Given the description of an element on the screen output the (x, y) to click on. 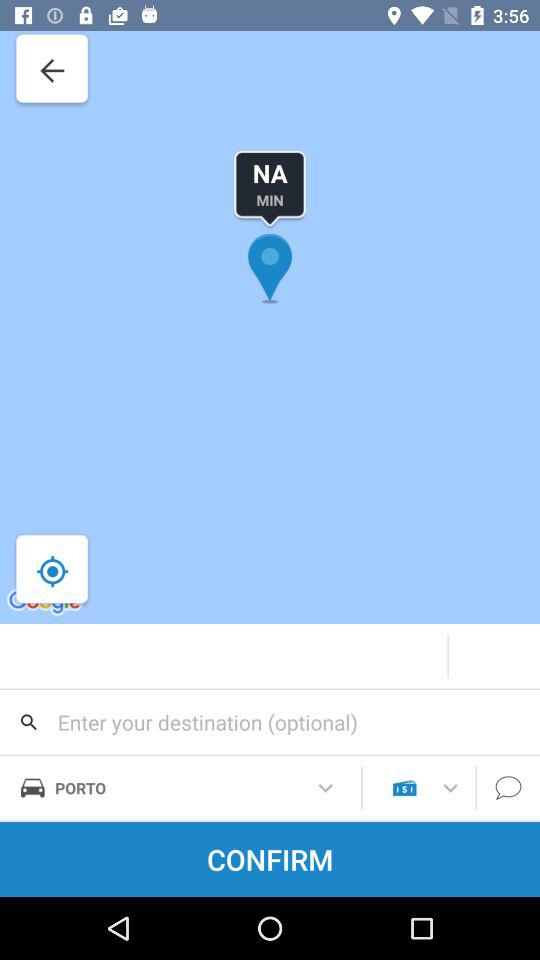
open conversation (508, 788)
